Given the description of an element on the screen output the (x, y) to click on. 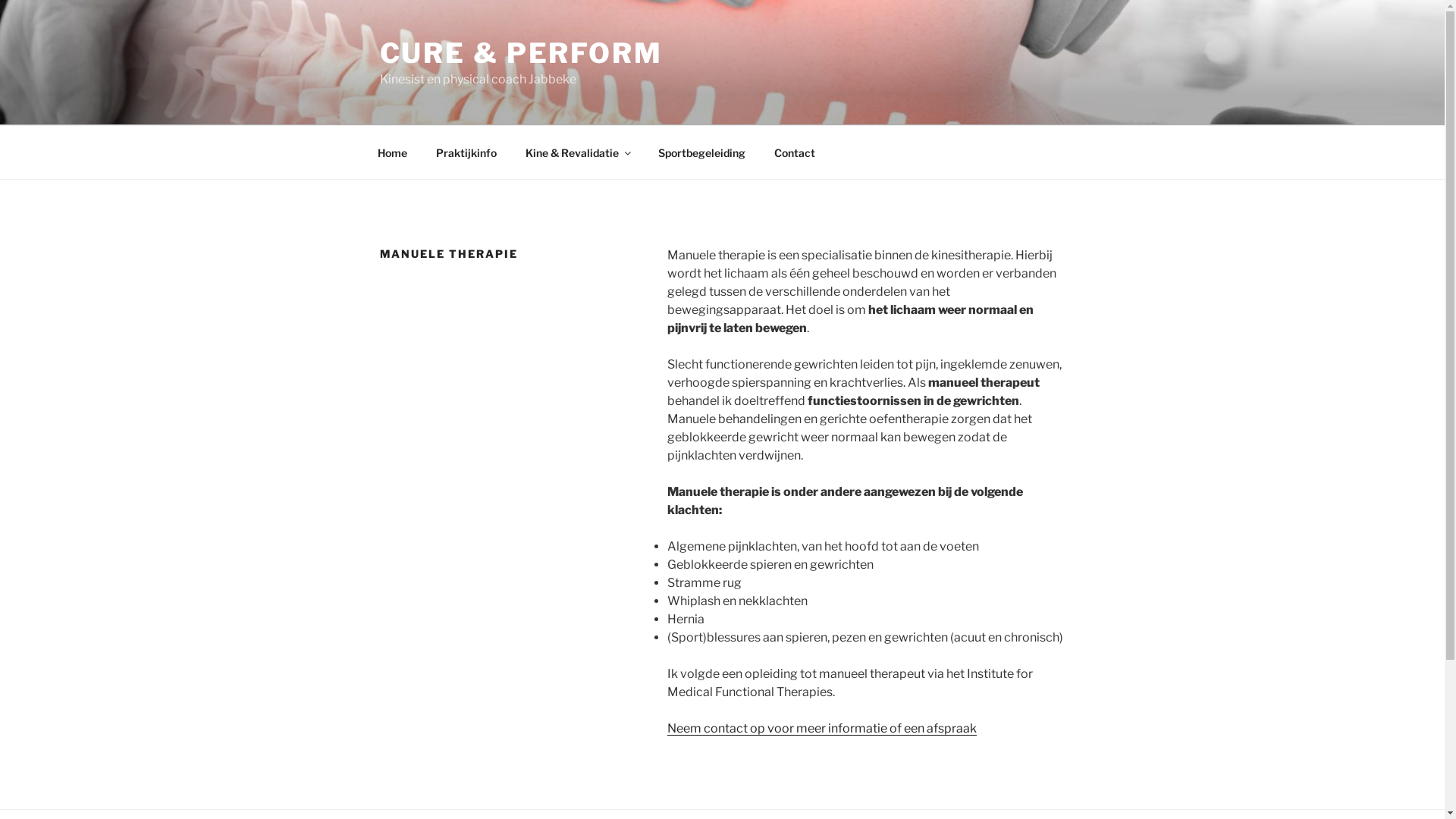
Praktijkinfo Element type: text (466, 151)
Sportbegeleiding Element type: text (701, 151)
Home Element type: text (392, 151)
CURE & PERFORM Element type: text (520, 52)
Neem contact op voor meer informatie of een afspraak Element type: text (821, 728)
Contact Element type: text (794, 151)
Kine & Revalidatie Element type: text (577, 151)
